Given the description of an element on the screen output the (x, y) to click on. 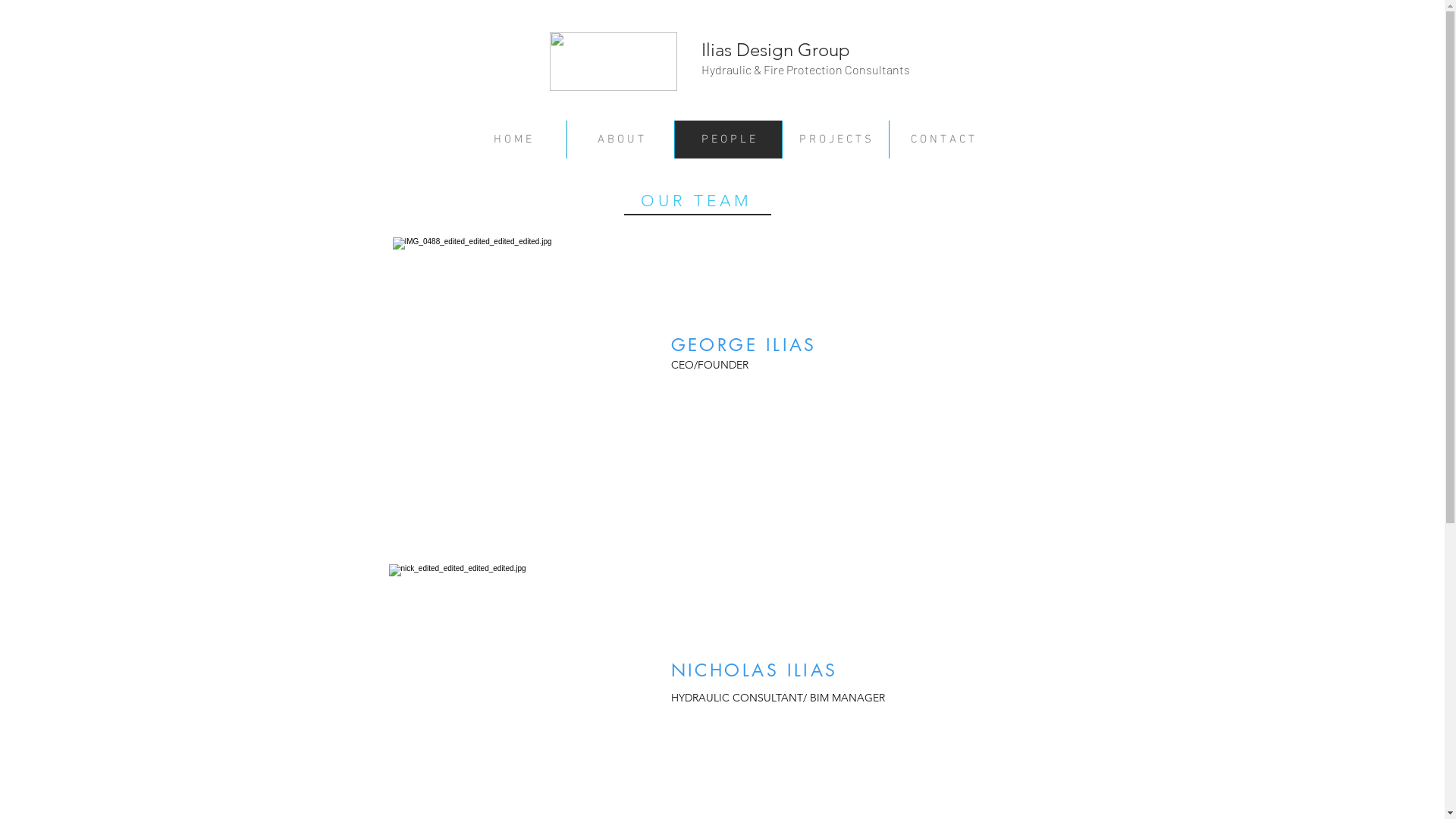
H O M E Element type: text (511, 139)
C O N T A C T Element type: text (941, 139)
P E O P L E Element type: text (727, 139)
A B O U T Element type: text (619, 139)
P R O J E C T S Element type: text (834, 139)
